Given the description of an element on the screen output the (x, y) to click on. 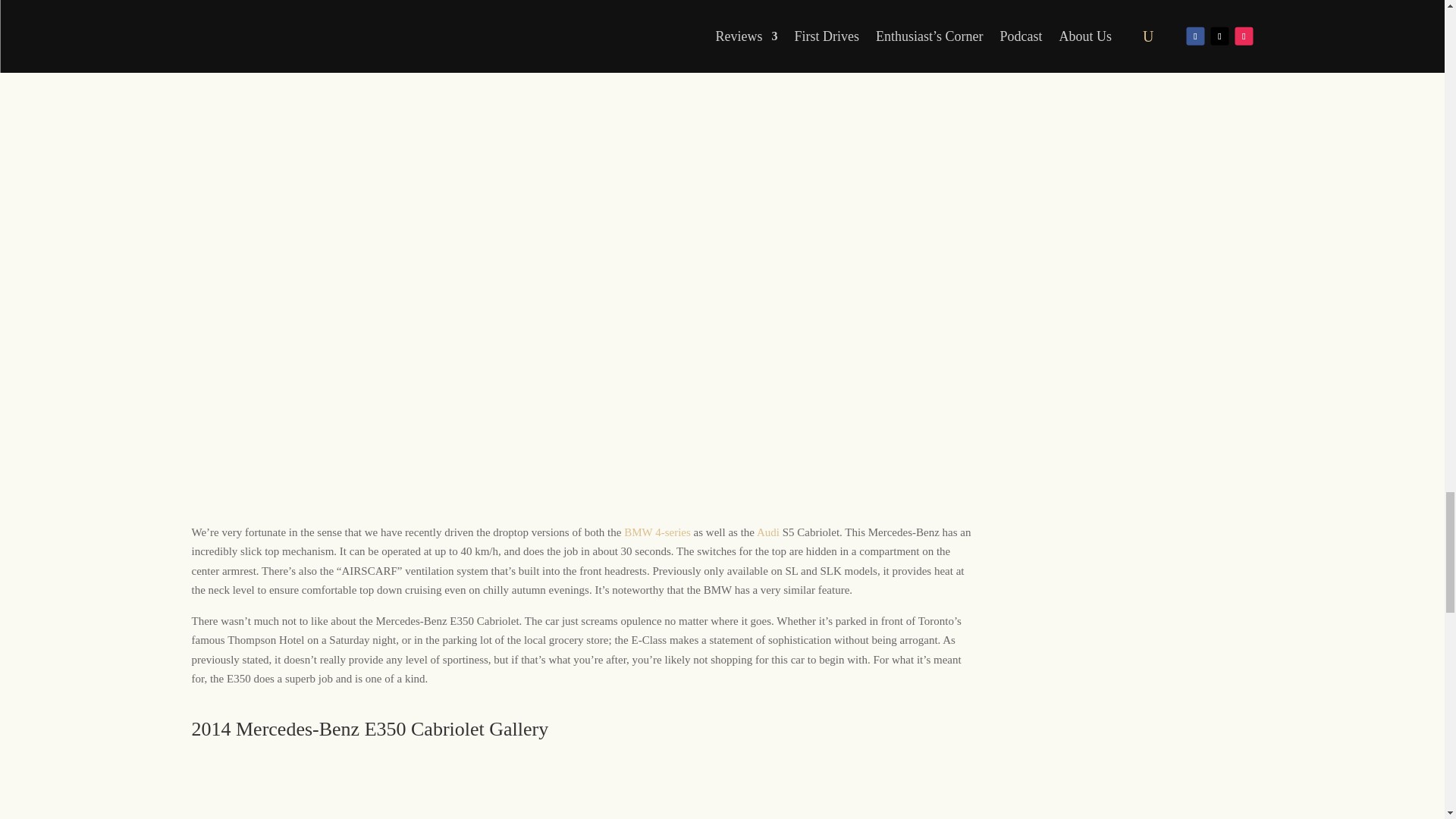
2014 Mercedes-Benz E350 Cabriolet instrument cluster (744, 782)
2014 Mercedes-Benz E350 Cabriolet top up (266, 782)
2014 Mercedes-Benz E350 Cabriolet top operation (426, 782)
2014 Mercedes-Benz E350 Cabriolet seat controls (585, 782)
2014 BMW 435i M-Sport (657, 532)
Audi Reviews (767, 532)
